Given the description of an element on the screen output the (x, y) to click on. 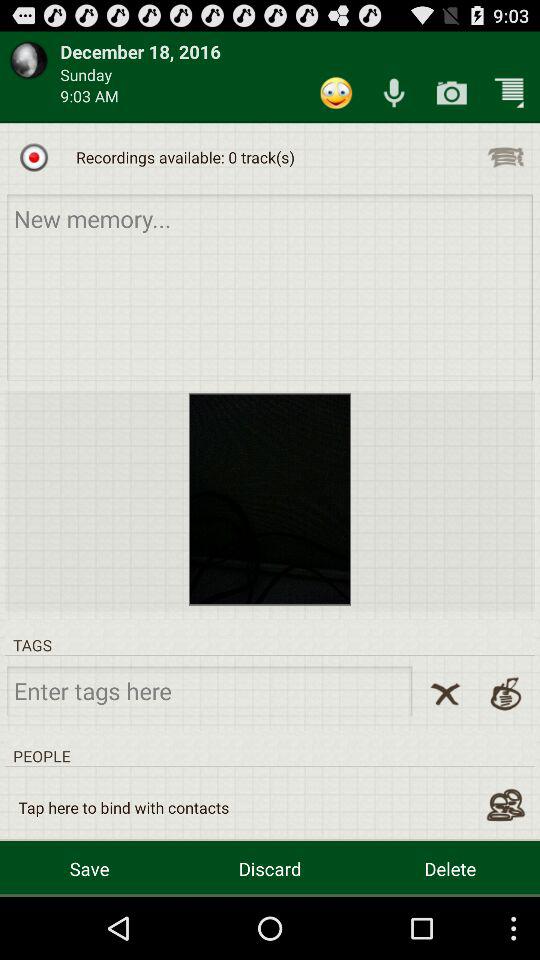
select icon to the right of the sunday item (336, 92)
